Given the description of an element on the screen output the (x, y) to click on. 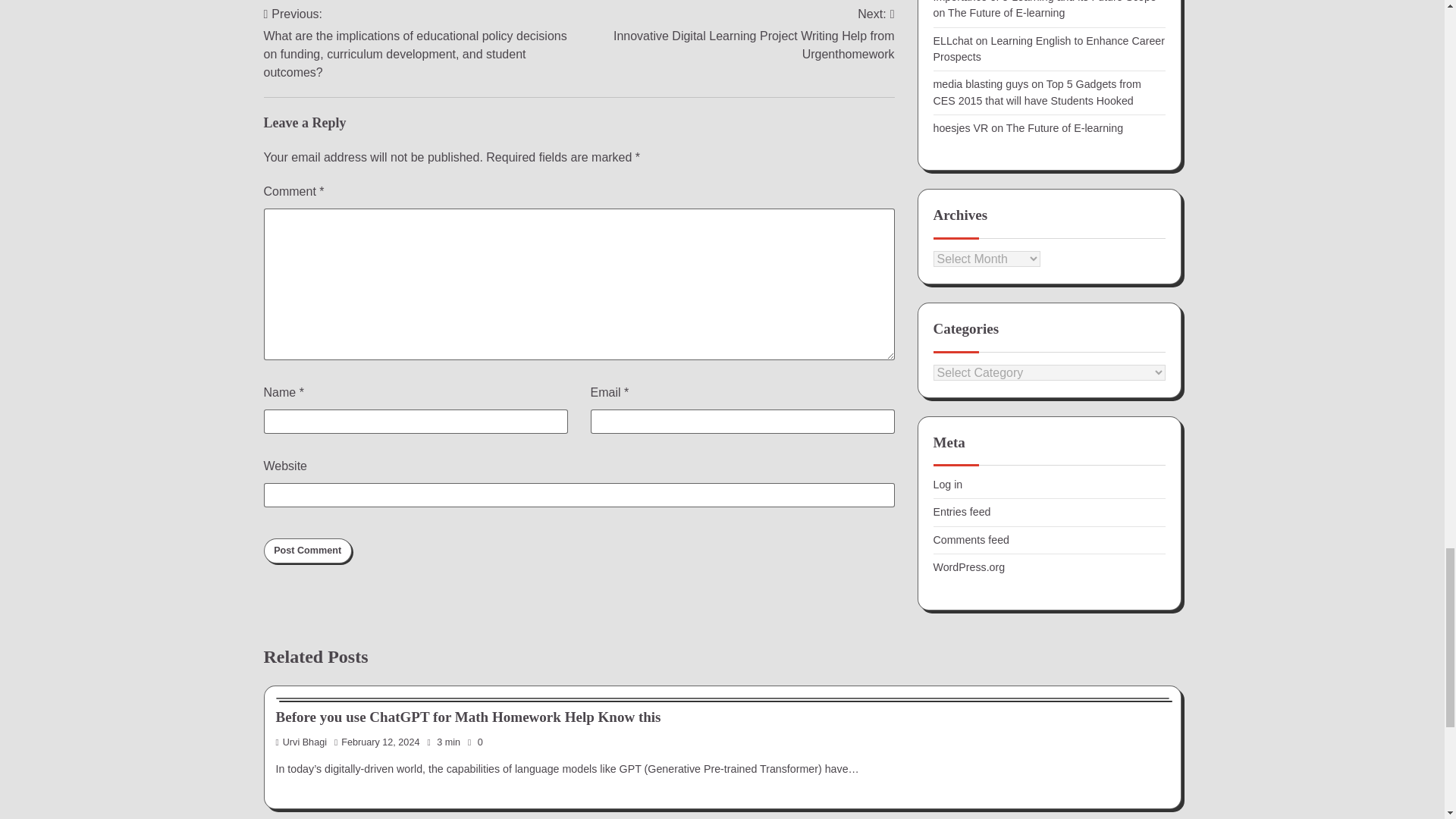
Post Comment (307, 551)
Before you use ChatGPT for Math Homework Help Know this (468, 716)
Post Comment (307, 551)
Urvi Bhagi (301, 742)
